Given the description of an element on the screen output the (x, y) to click on. 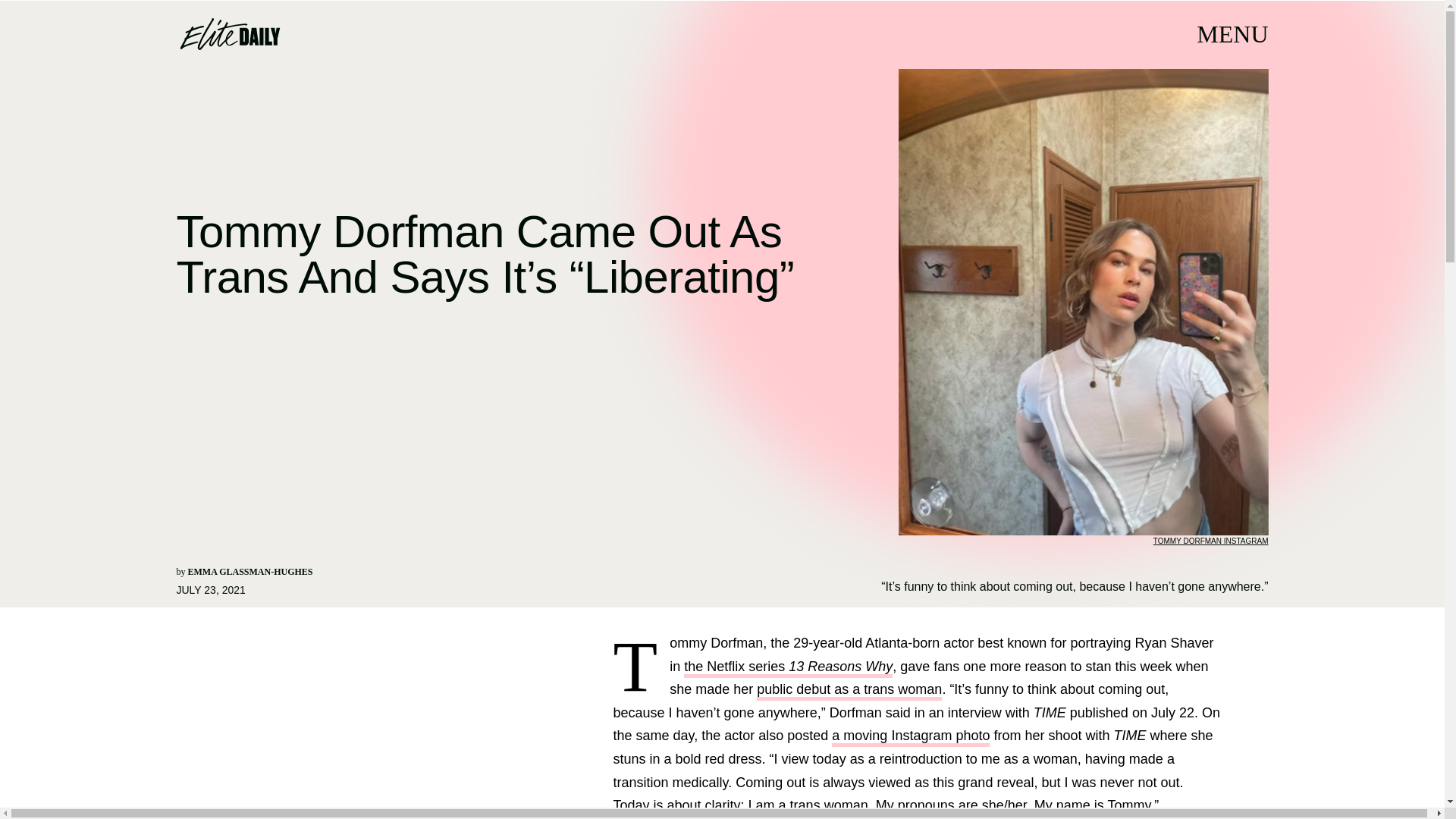
the Netflix series 13 Reasons Why (788, 668)
EMMA GLASSMAN-HUGHES (250, 571)
Elite Daily (229, 33)
TOMMY DORFMAN INSTAGRAM (1210, 541)
a moving Instagram photo (910, 737)
public debut as a trans woman (849, 691)
I am a trans woman (807, 806)
